Given the description of an element on the screen output the (x, y) to click on. 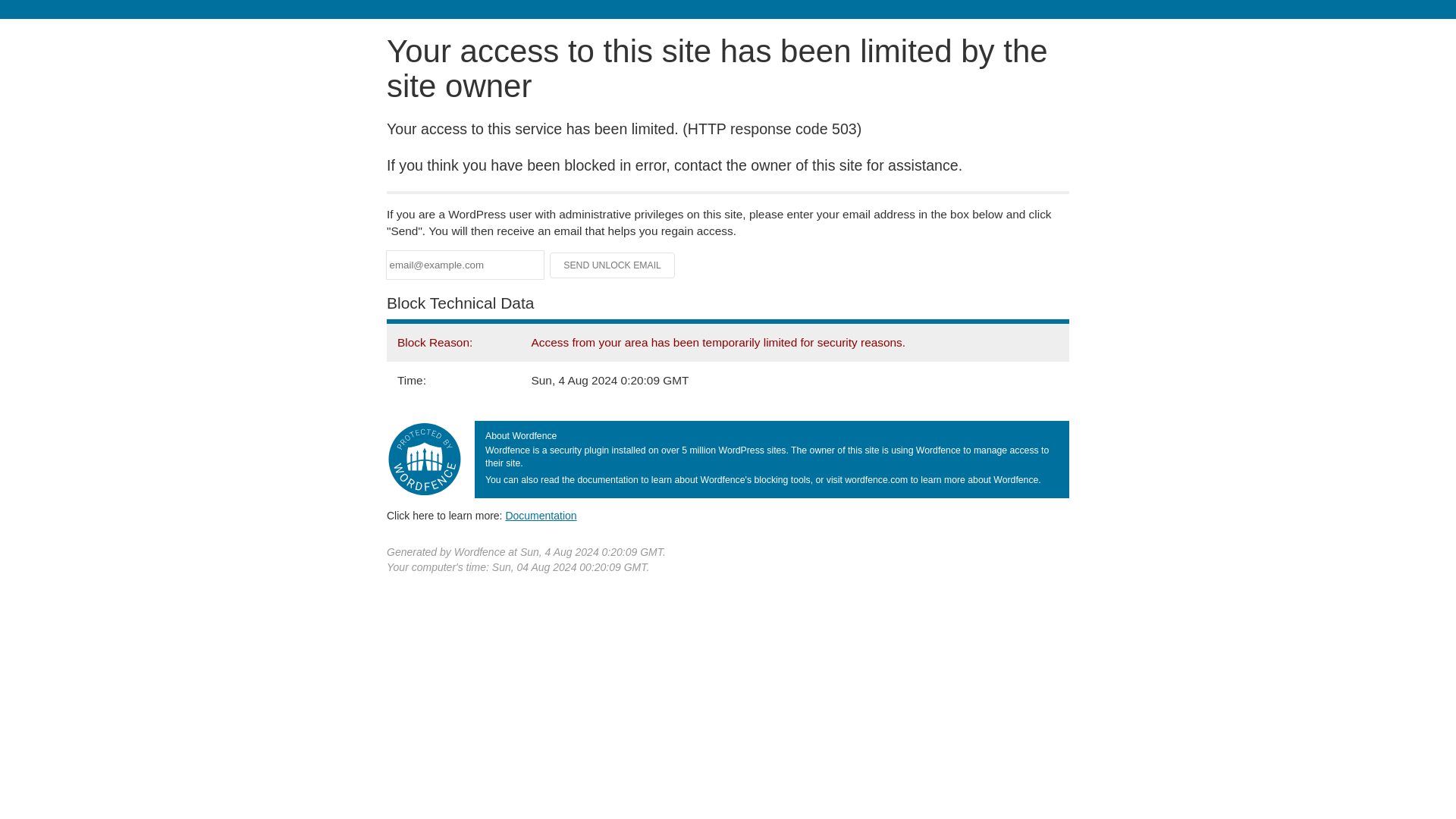
Send Unlock Email (612, 265)
Send Unlock Email (612, 265)
Documentation (540, 515)
